Given the description of an element on the screen output the (x, y) to click on. 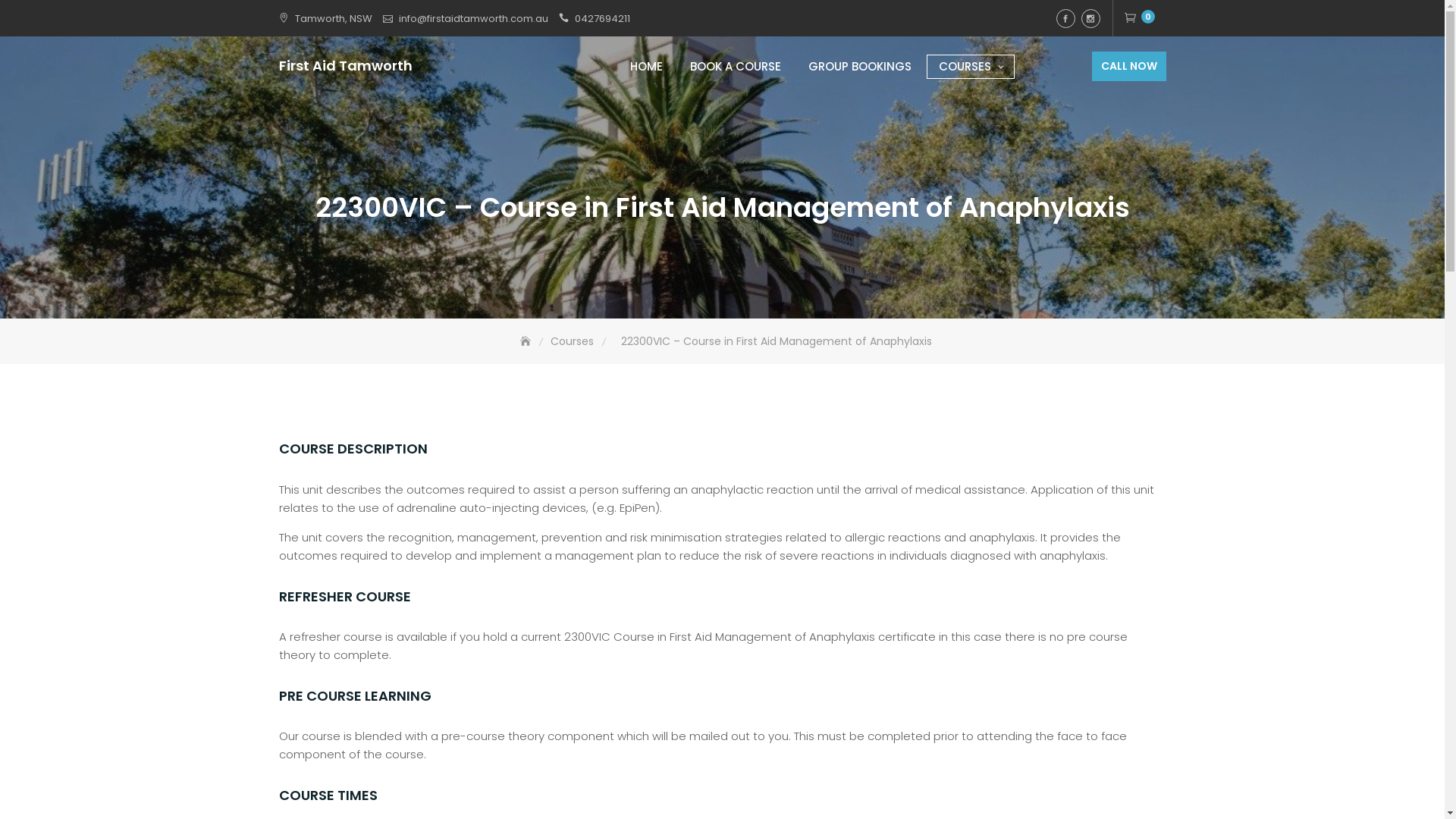
Home Element type: text (526, 341)
info@firstaidtamworth.com.au Element type: text (473, 18)
Search Element type: text (48, 15)
GROUP BOOKINGS Element type: text (859, 65)
Courses Element type: text (573, 341)
CALL NOW Element type: text (1129, 66)
0 Element type: text (1138, 18)
First Aid Tamworth Element type: text (345, 65)
COURSES Element type: text (969, 65)
0427694211 Element type: text (602, 18)
BOOK A COURSE Element type: text (734, 65)
Instagram Element type: text (1090, 18)
Facebook Element type: text (1064, 18)
HOME Element type: text (646, 65)
